Given the description of an element on the screen output the (x, y) to click on. 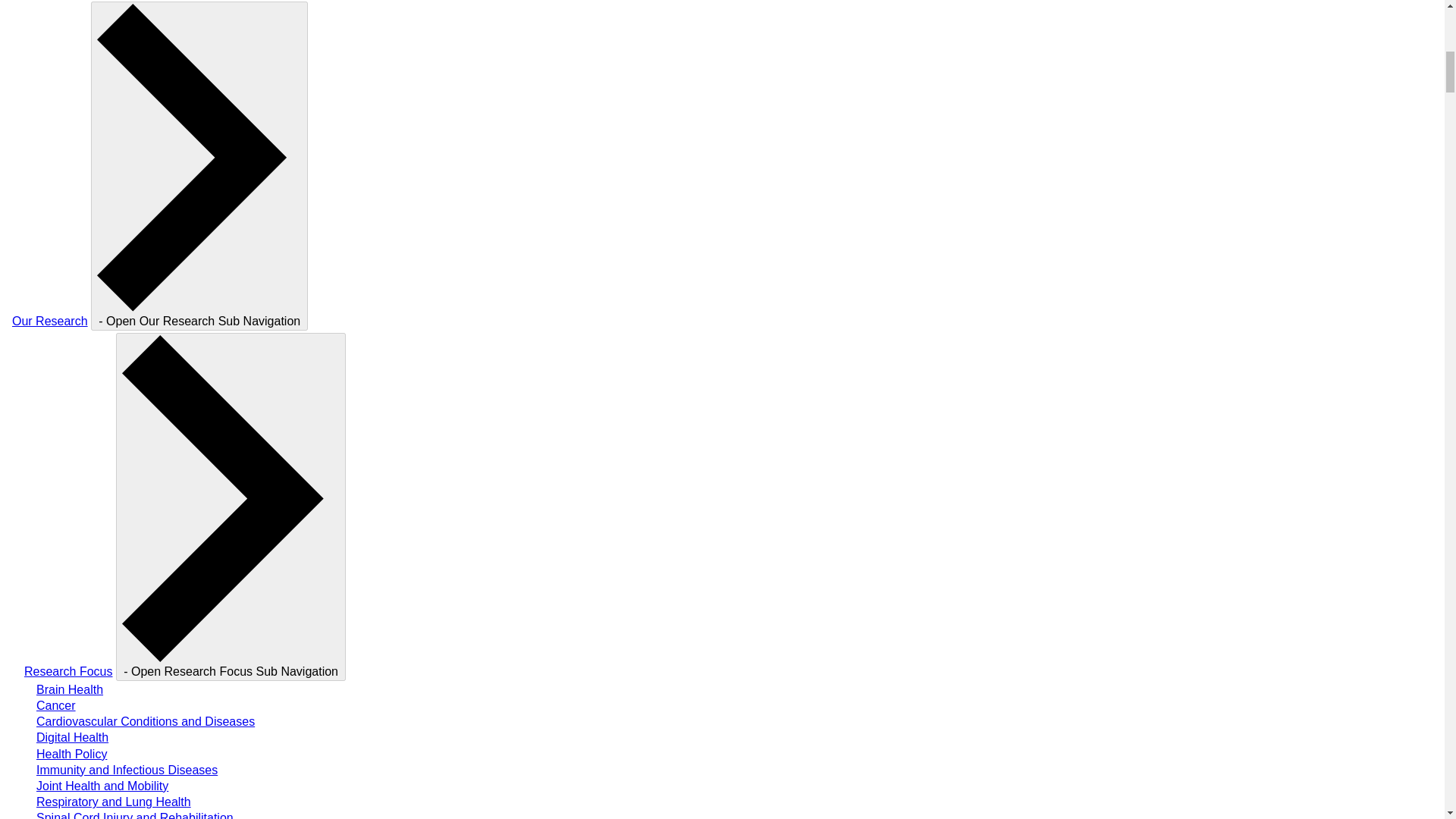
Research Focus (68, 671)
Respiratory and Lung Health (113, 801)
Spinal Cord Injury and Rehabilitation (134, 815)
Joint Health and Mobility (102, 785)
Cancer (55, 705)
Health Policy (71, 753)
Brain Health (69, 689)
Cardiovascular Conditions and Diseases (145, 721)
Digital Health (71, 737)
Immunity and Infectious Diseases (126, 769)
Our Research (49, 320)
